Given the description of an element on the screen output the (x, y) to click on. 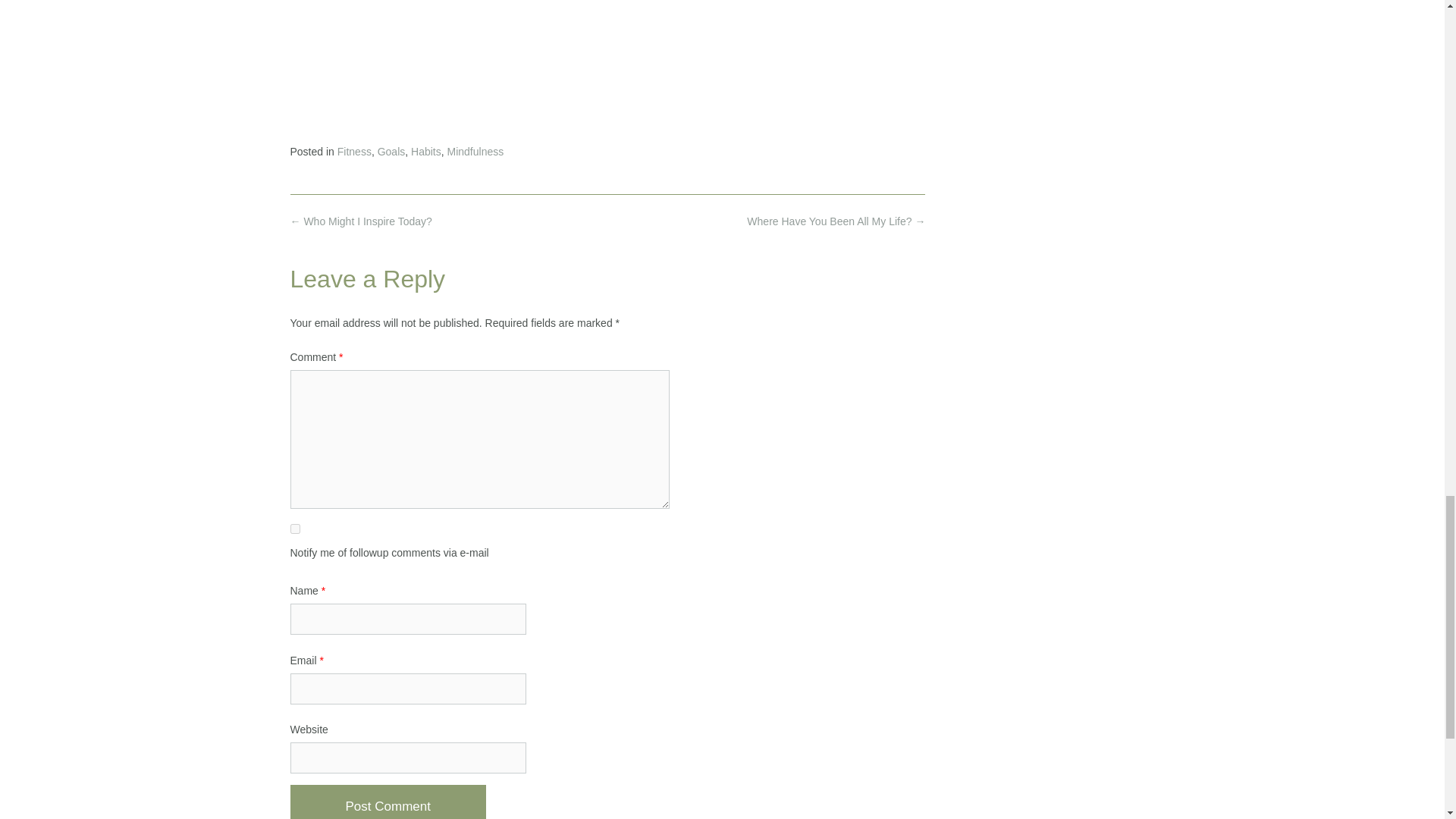
Fitness (354, 151)
Goals (391, 151)
subscribe (294, 528)
Mindfulness (474, 151)
Post Comment (386, 801)
Post Comment (386, 801)
Habits (425, 151)
